Given the description of an element on the screen output the (x, y) to click on. 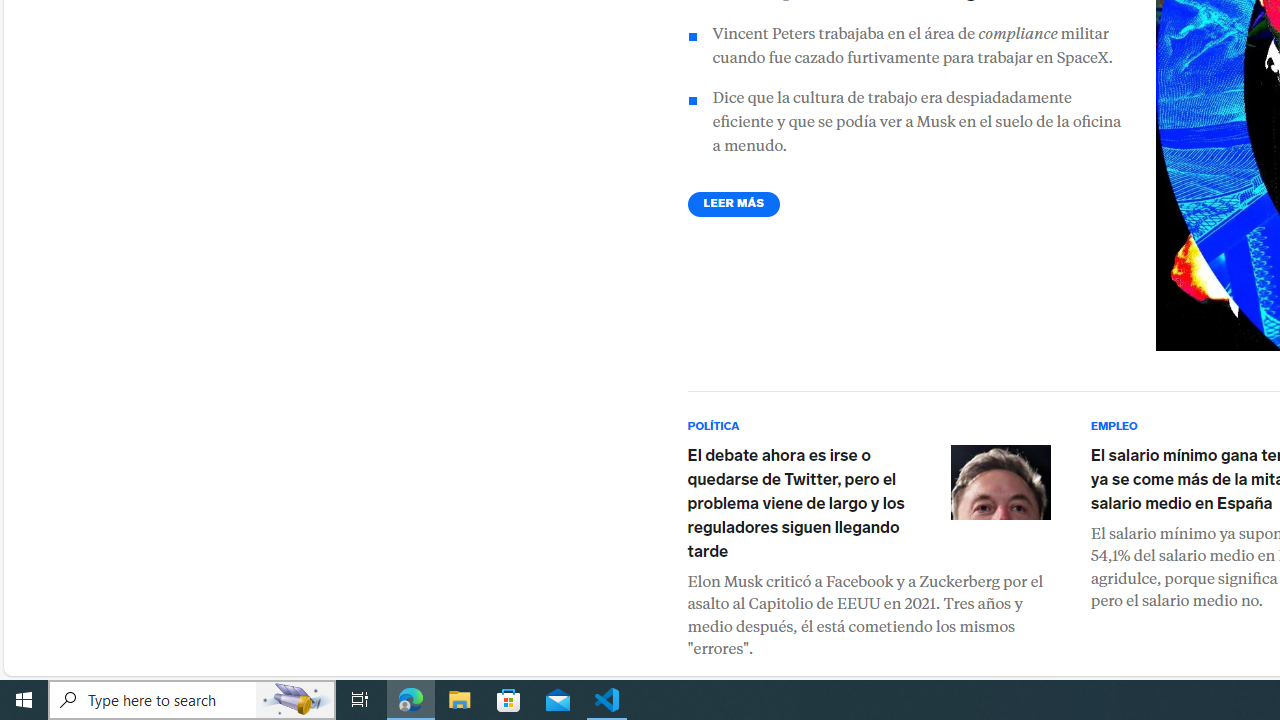
Elon Musk (999, 481)
